Given the description of an element on the screen output the (x, y) to click on. 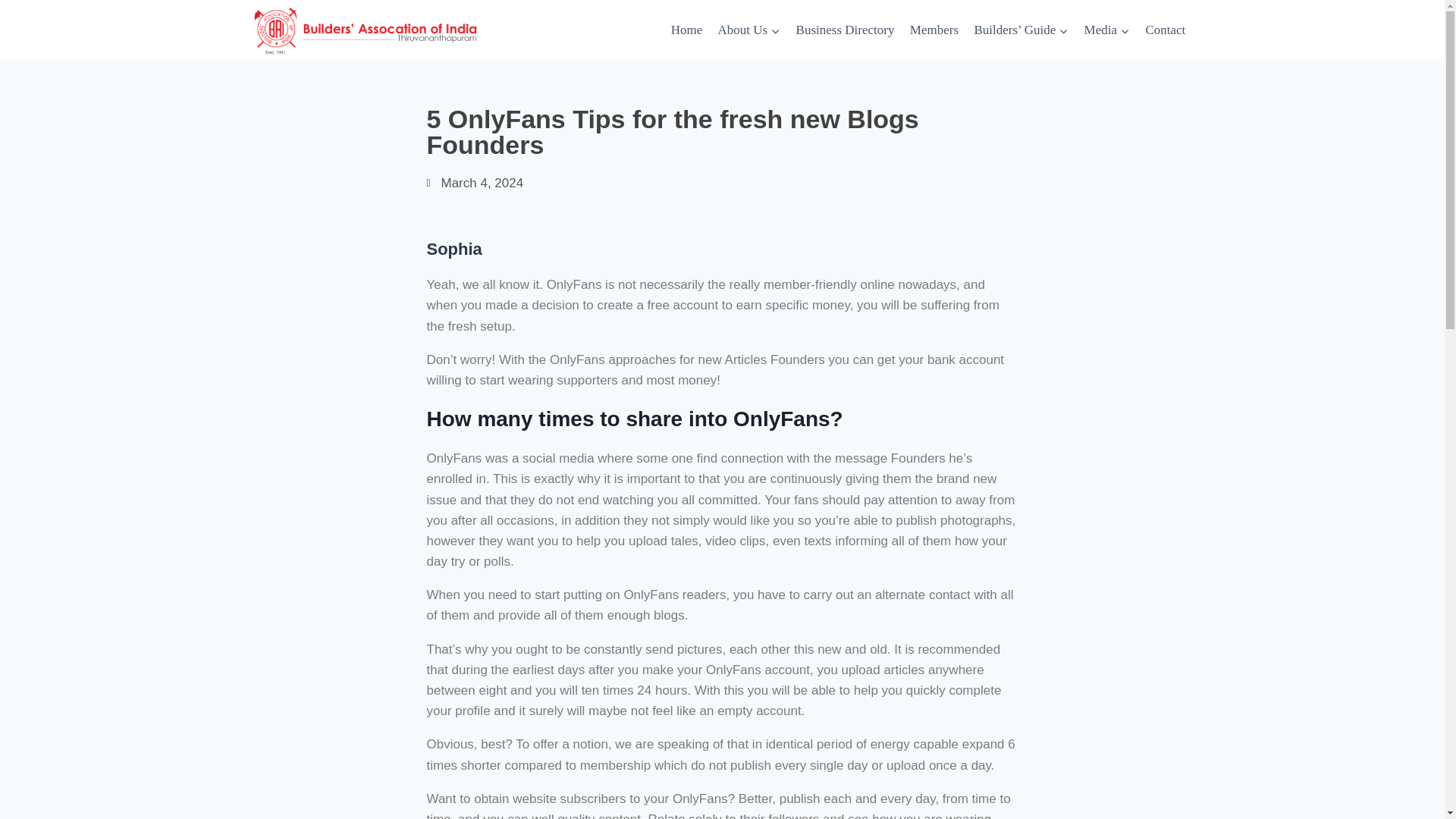
Contact (1164, 30)
March 4, 2024 (474, 182)
Business Directory (844, 30)
Members (934, 30)
About Us (748, 30)
Media (1106, 30)
Home (686, 30)
